Given the description of an element on the screen output the (x, y) to click on. 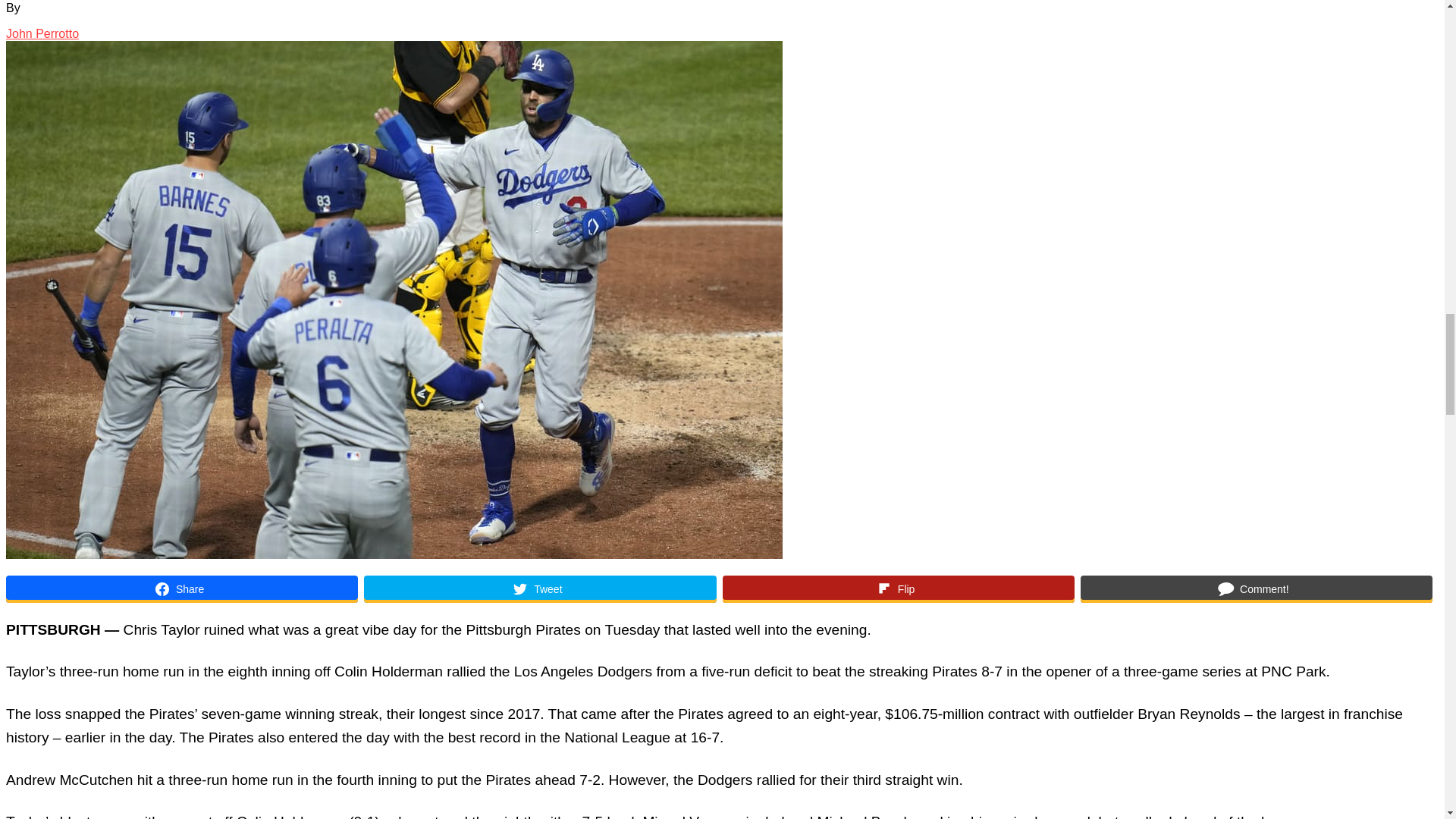
Share on Tweet (540, 588)
Share on Share (181, 588)
Posts by John Perrotto (41, 33)
Share on Flip (898, 588)
